Given the description of an element on the screen output the (x, y) to click on. 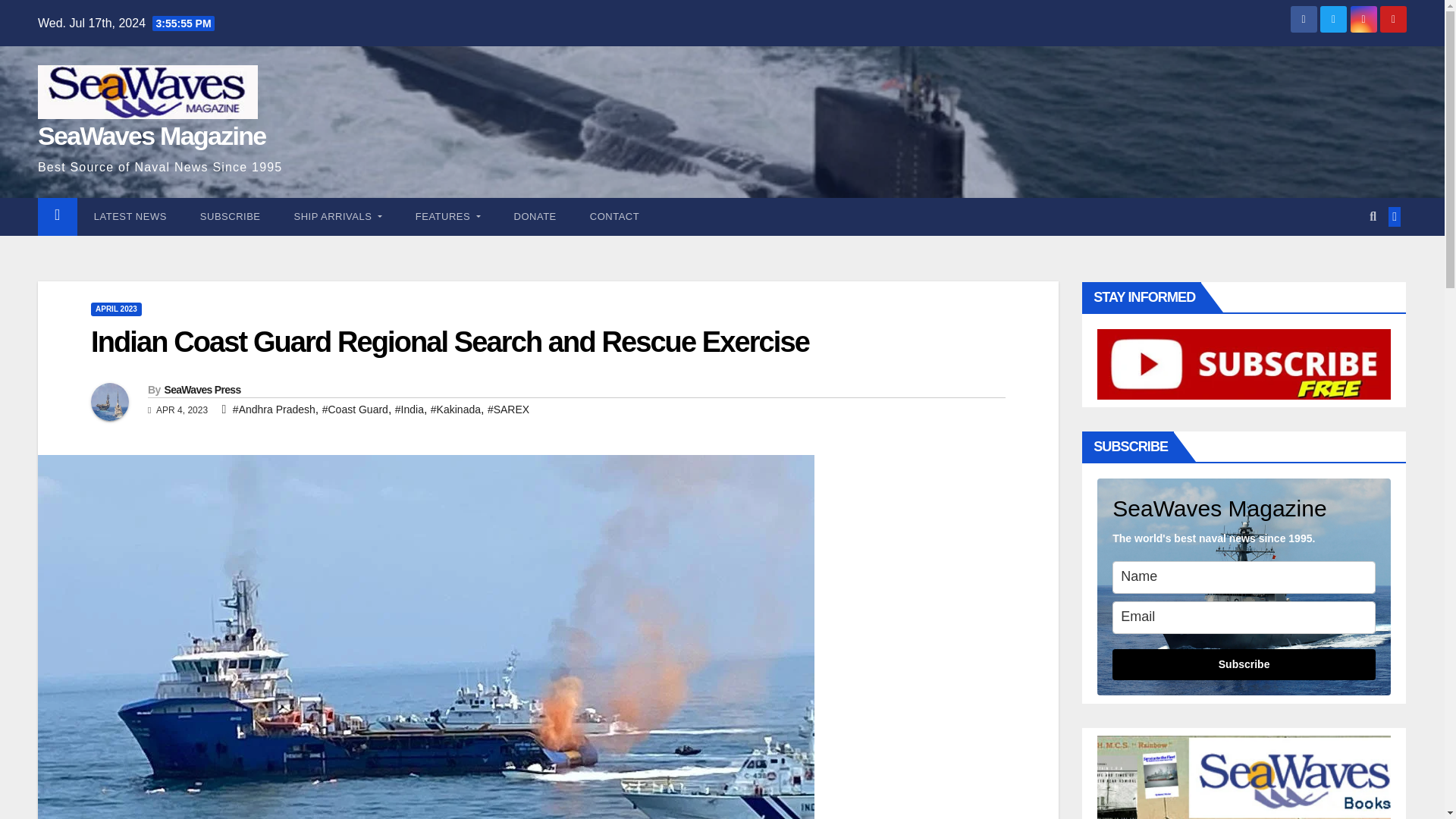
Features (447, 216)
LATEST NEWS (130, 216)
Ship Arrivals (338, 216)
SHIP ARRIVALS (338, 216)
SeaWaves Magazine (151, 135)
Subscribe (230, 216)
FEATURES (447, 216)
Latest News (130, 216)
SUBSCRIBE (230, 216)
